Given the description of an element on the screen output the (x, y) to click on. 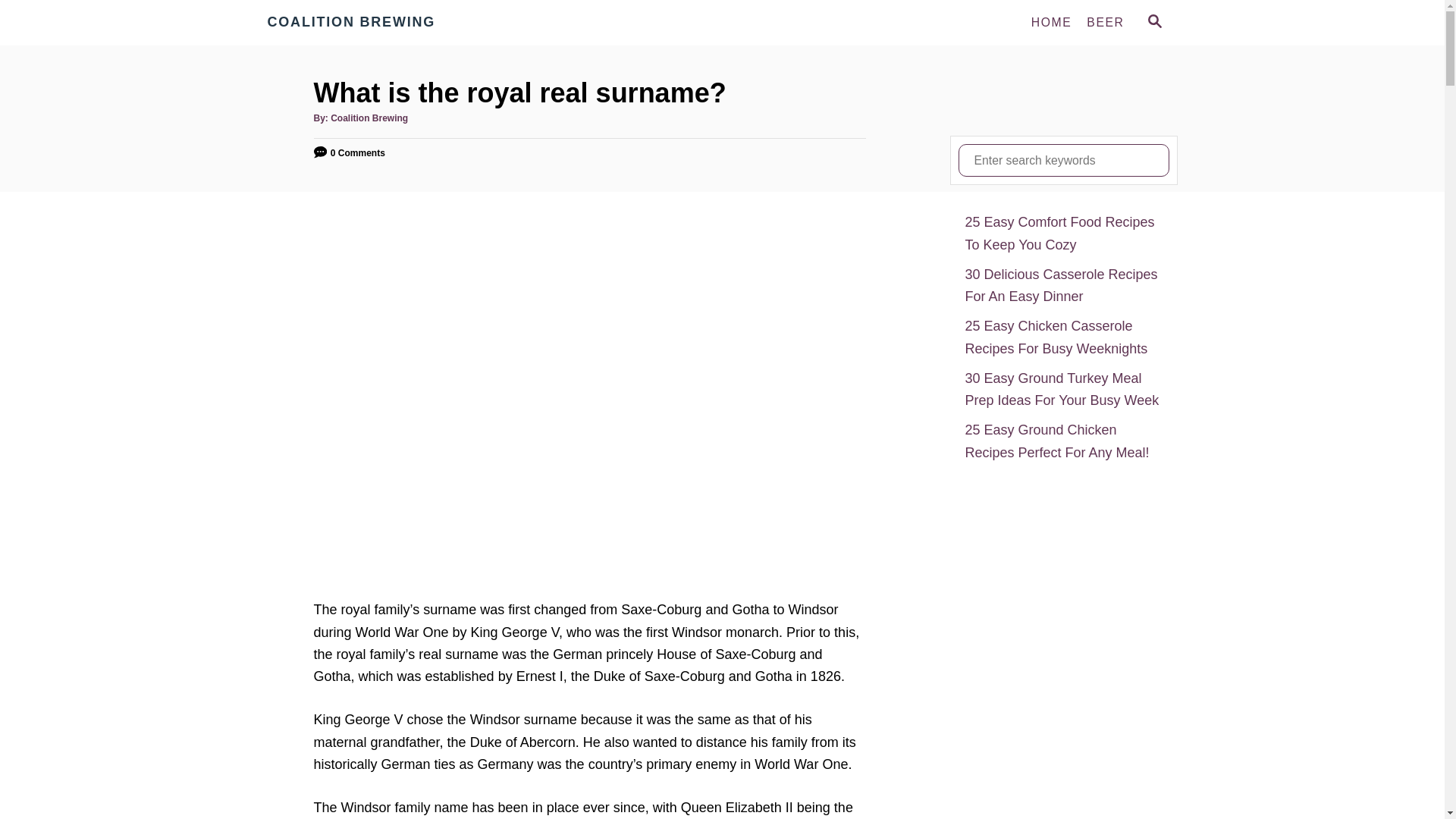
25 Easy Comfort Food Recipes To Keep You Cozy (1062, 234)
SEARCH (1153, 22)
Coalition Brewing (368, 118)
COALITION BREWING (403, 22)
HOME (1051, 22)
Search (22, 22)
30 Delicious Casserole Recipes For An Easy Dinner (1062, 286)
25 Easy Ground Chicken Recipes Perfect For Any Meal! (1062, 441)
30 Easy Ground Turkey Meal Prep Ideas For Your Busy Week (1062, 389)
Coalition Brewing (403, 22)
25 Easy Chicken Casserole Recipes For Busy Weeknights (1062, 337)
BEER (1104, 22)
